Given the description of an element on the screen output the (x, y) to click on. 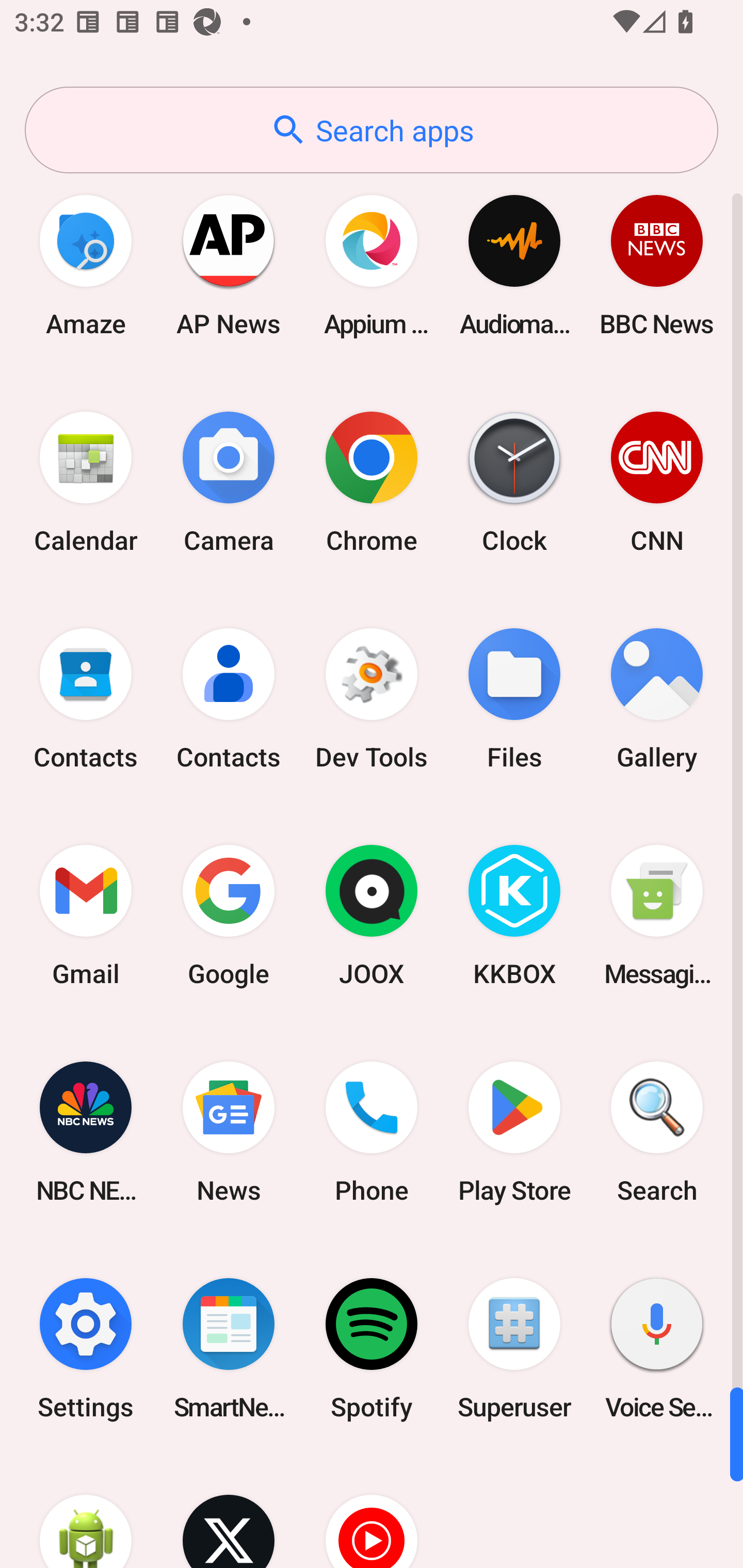
  Search apps (371, 130)
Amaze (85, 264)
AP News (228, 264)
Appium Settings (371, 264)
Audio­mack (514, 264)
BBC News (656, 264)
Calendar (85, 482)
Camera (228, 482)
Chrome (371, 482)
Clock (514, 482)
CNN (656, 482)
Contacts (85, 699)
Contacts (228, 699)
Dev Tools (371, 699)
Files (514, 699)
Gallery (656, 699)
Gmail (85, 915)
Google (228, 915)
JOOX (371, 915)
KKBOX (514, 915)
Messaging (656, 915)
NBC NEWS (85, 1131)
News (228, 1131)
Phone (371, 1131)
Play Store (514, 1131)
Search (656, 1131)
Settings (85, 1348)
SmartNews (228, 1348)
Spotify (371, 1348)
Superuser (514, 1348)
Voice Search (656, 1348)
WebView Browser Tester (85, 1512)
X (228, 1512)
YT Music (371, 1512)
